Given the description of an element on the screen output the (x, y) to click on. 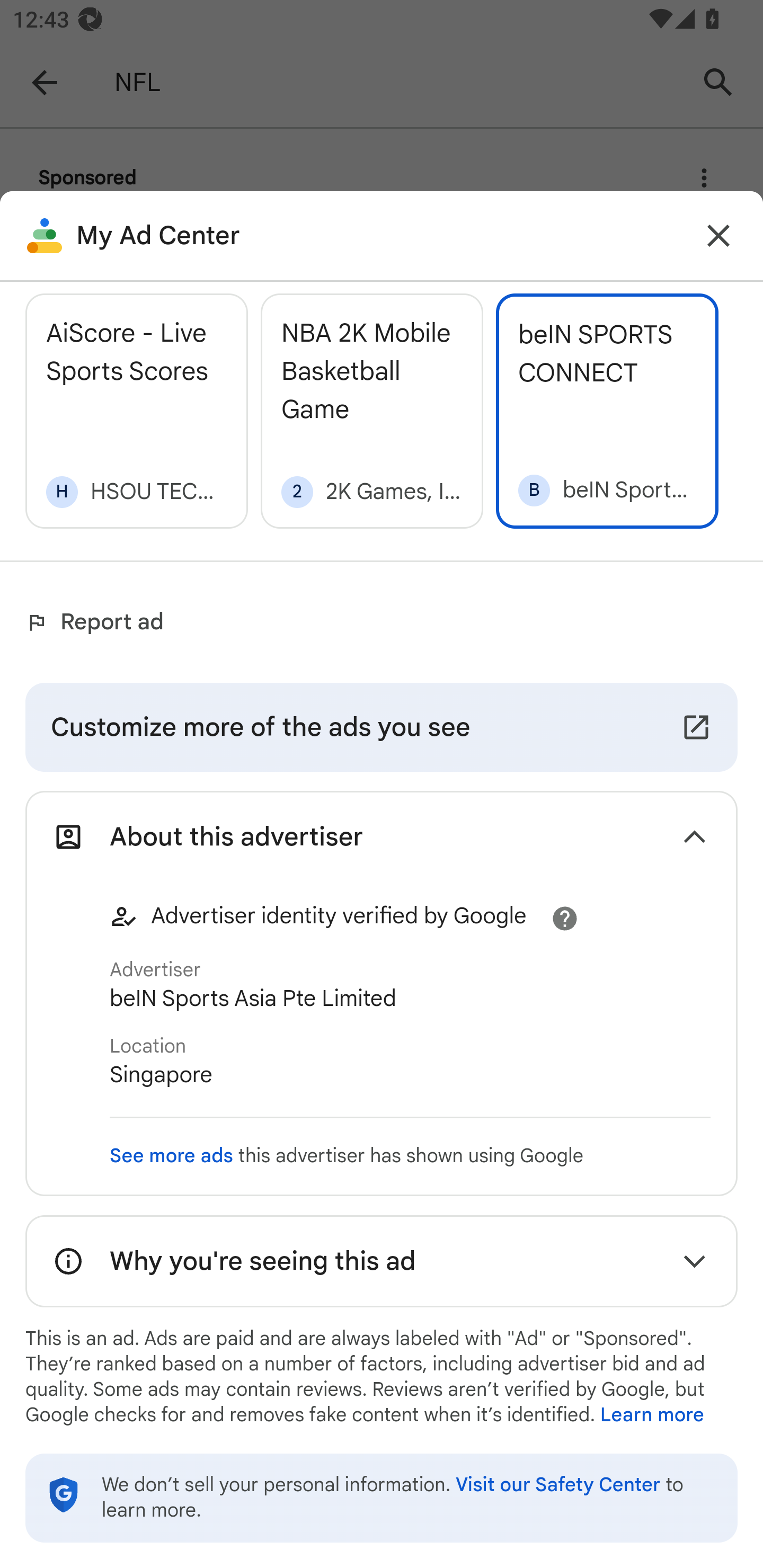
Close (718, 235)
Report ad (opens in new tab) Report ad (98, 622)
About this advertiser (381, 836)
See more ads (opens in new tab) See more ads (171, 1156)
Why you're seeing this ad (381, 1261)
Learn more (opens in new tab) Learn more (651, 1415)
